Given the description of an element on the screen output the (x, y) to click on. 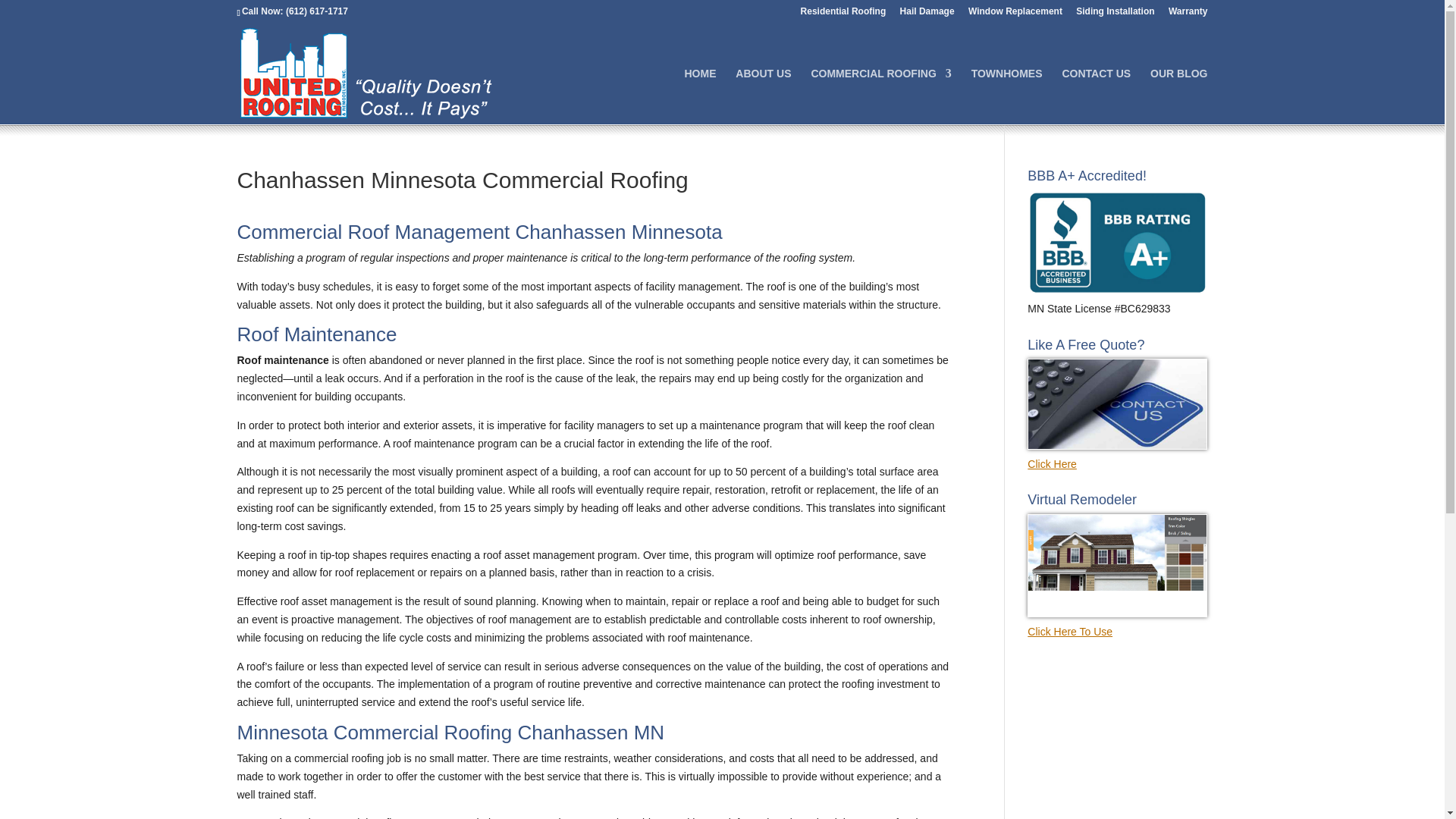
TOWNHOMES (1006, 95)
OUR BLOG (1178, 95)
Window Replacement (1015, 14)
Click Here (1117, 454)
ABOUT US (762, 95)
Siding Installation (1114, 14)
CONTACT US (1096, 95)
COMMERCIAL ROOFING (880, 95)
Hail Damage (927, 14)
Click Here To Use (1117, 622)
Warranty (1188, 14)
Residential Roofing (843, 14)
